Given the description of an element on the screen output the (x, y) to click on. 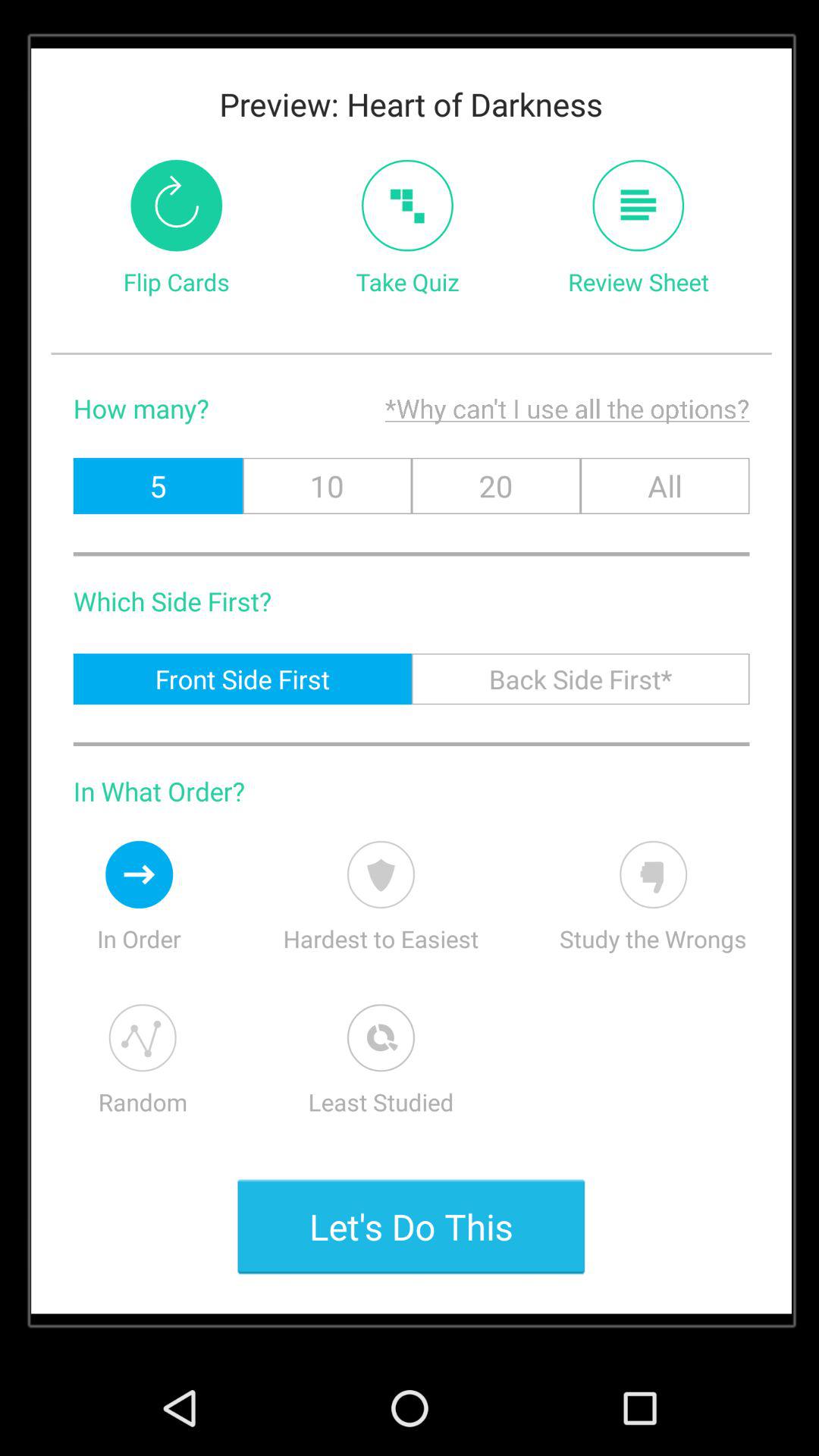
choose the item next to 5 icon (326, 485)
